Given the description of an element on the screen output the (x, y) to click on. 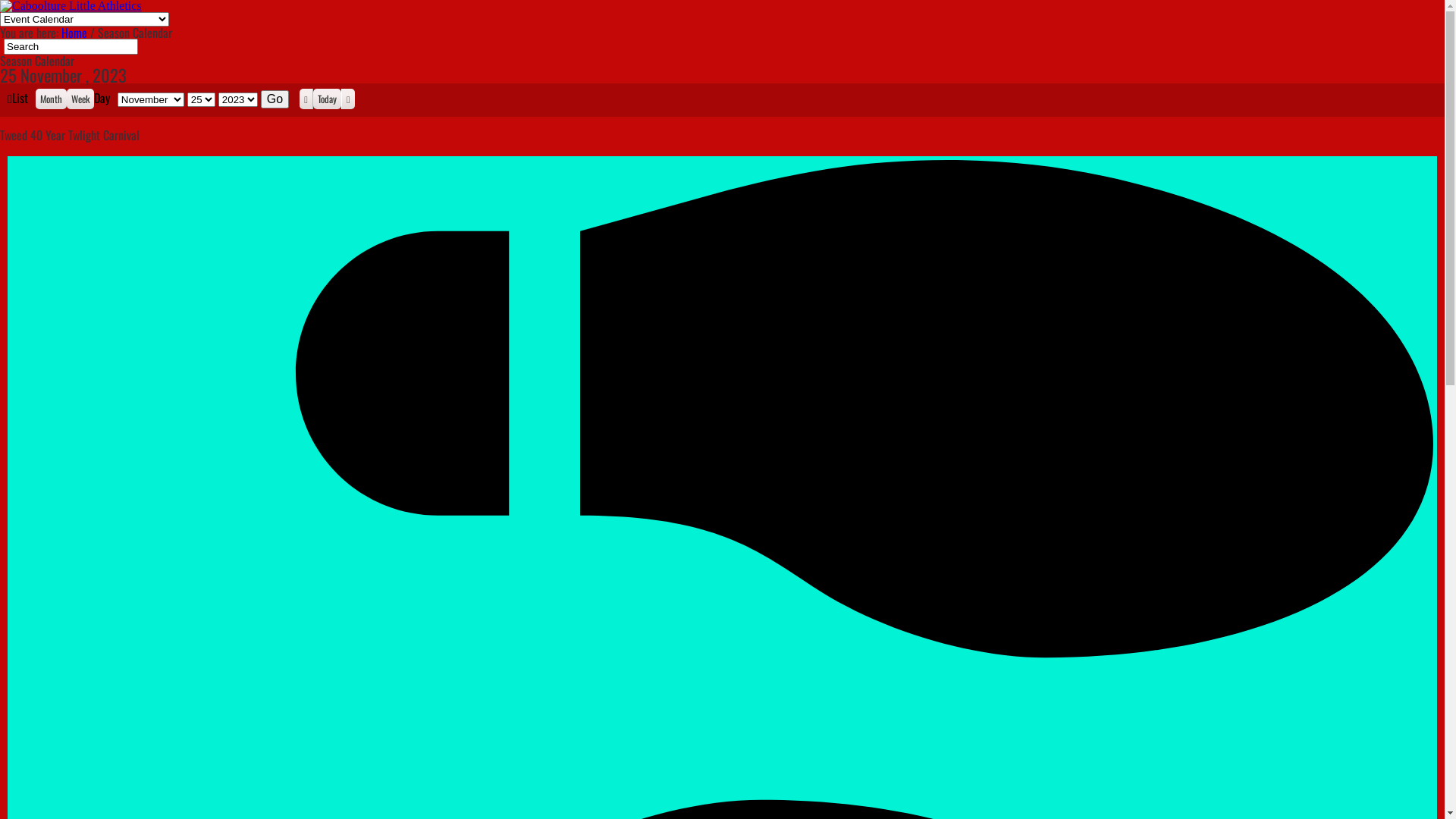
Today Element type: text (327, 98)
Month Element type: text (50, 98)
Week Element type: text (80, 98)
Previous Element type: text (306, 98)
Go Element type: text (274, 99)
Home Element type: text (74, 32)
Next Element type: text (347, 98)
